Given the description of an element on the screen output the (x, y) to click on. 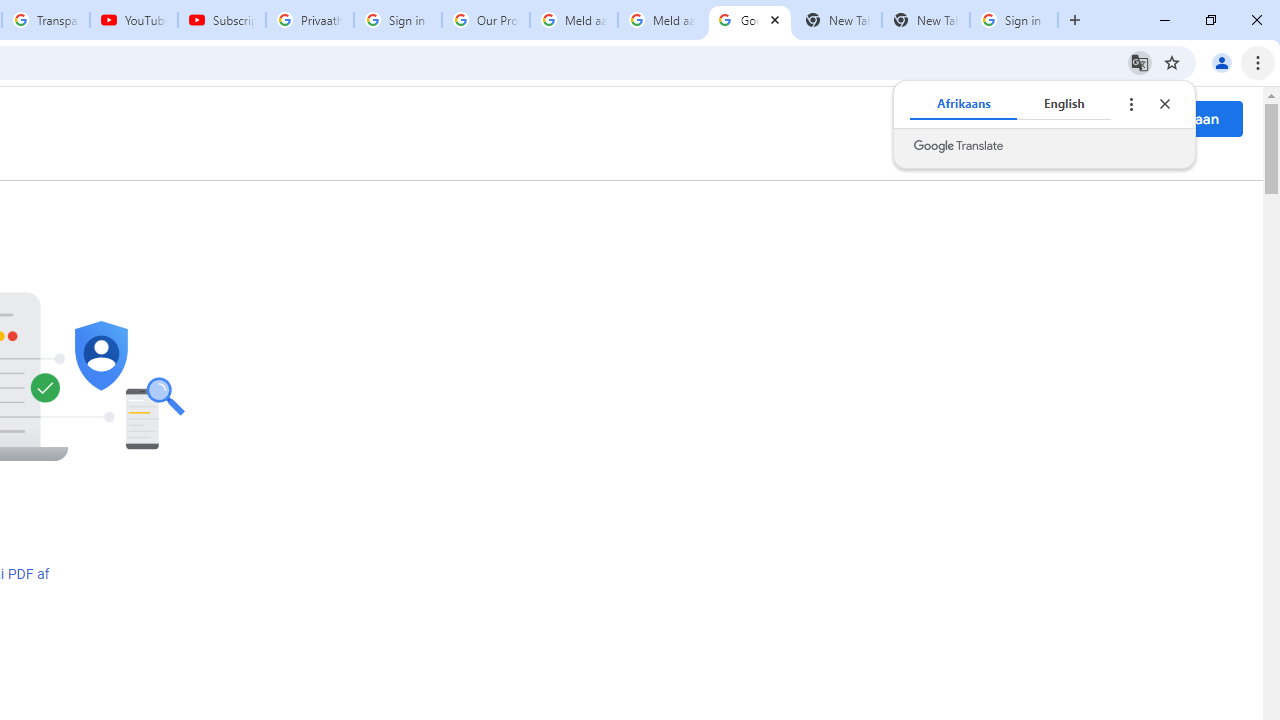
Translate this page (1139, 62)
YouTube (133, 20)
English (1064, 103)
New Tab (925, 20)
Sign in - Google Accounts (397, 20)
